Given the description of an element on the screen output the (x, y) to click on. 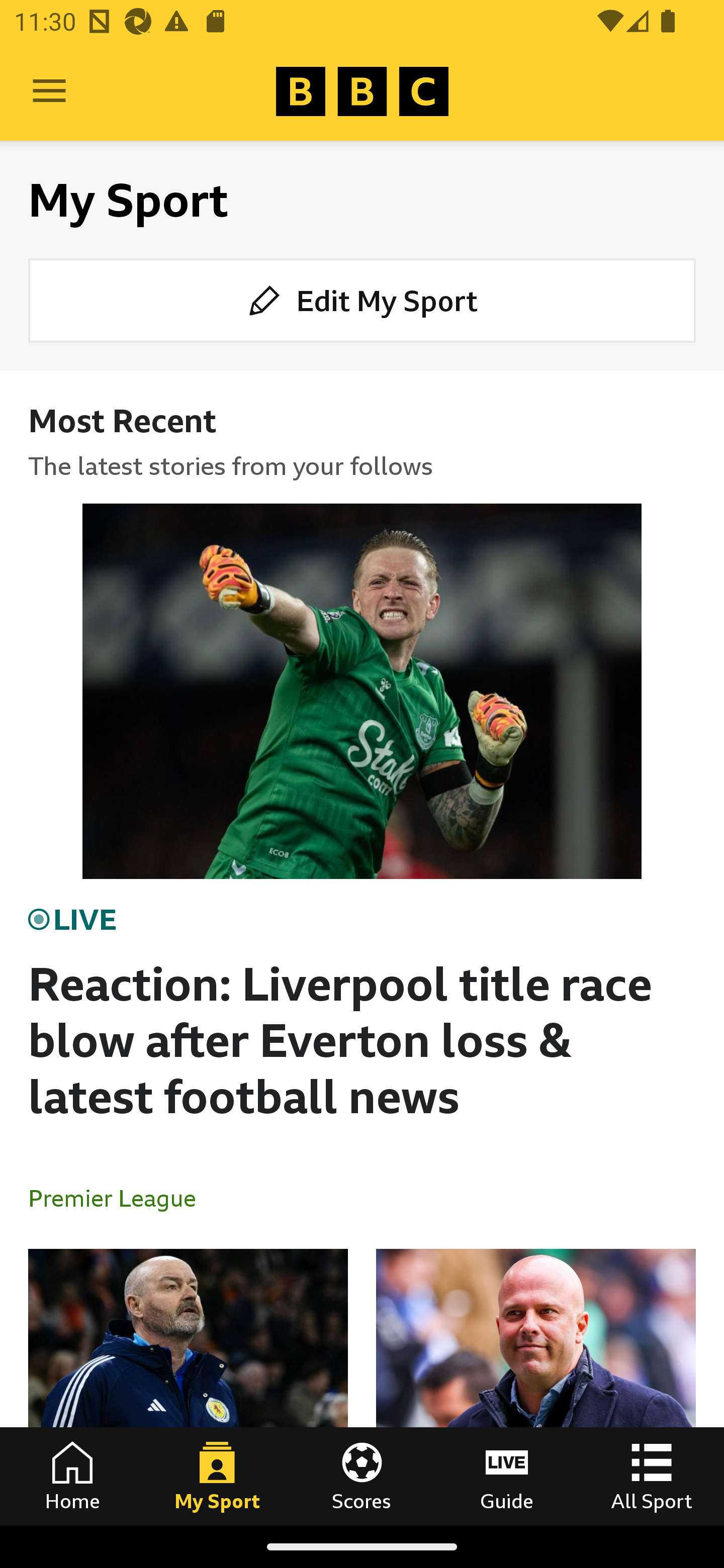
Open Menu (49, 91)
Edit My Sport (361, 300)
Premier League In the section Premier League (119, 1197)
Slot philosophy could suit Liverpool - Van Dijk (535, 1386)
Home (72, 1475)
Scores (361, 1475)
Guide (506, 1475)
All Sport (651, 1475)
